Given the description of an element on the screen output the (x, y) to click on. 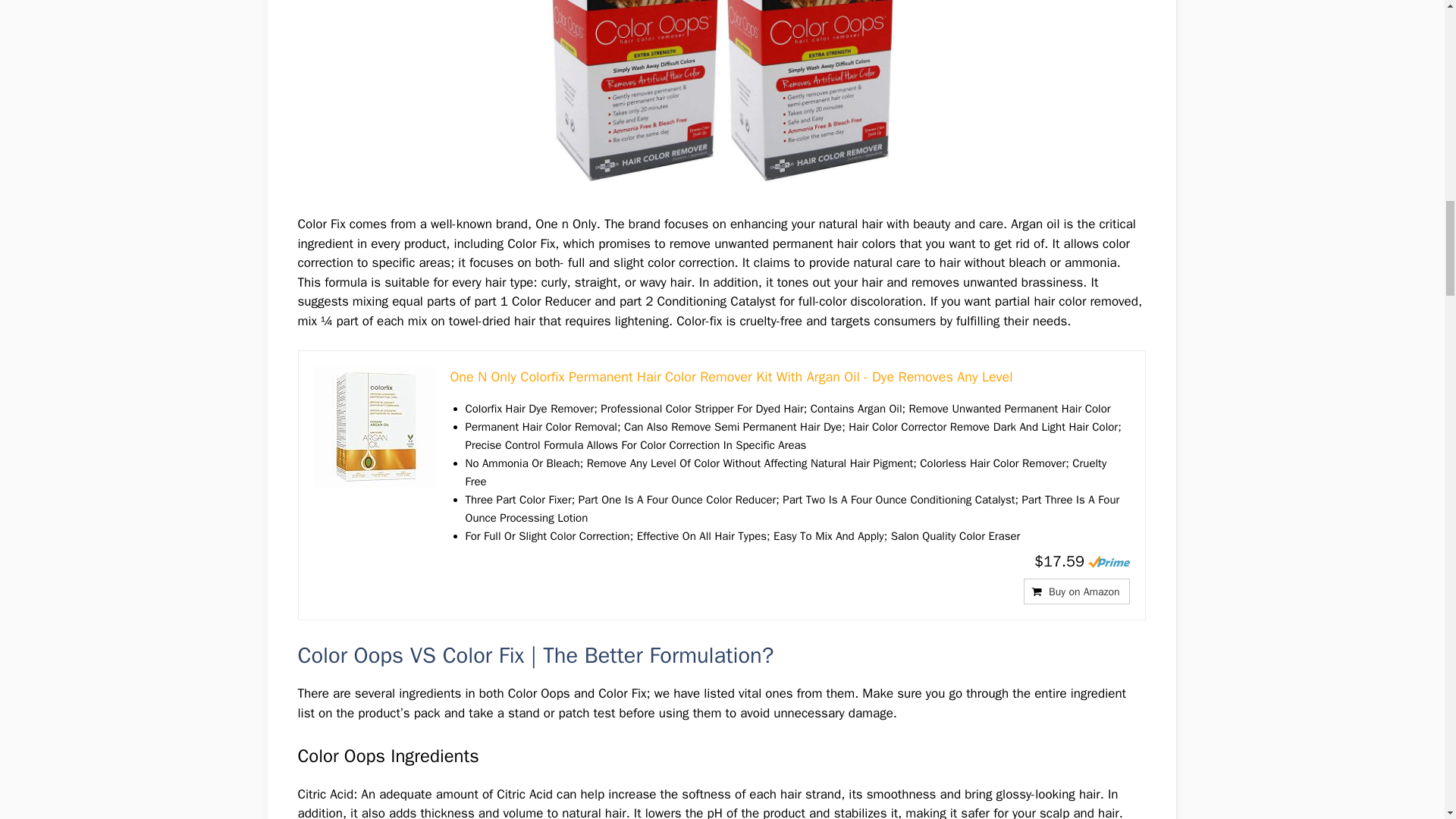
Buy on Amazon (1076, 591)
